Given the description of an element on the screen output the (x, y) to click on. 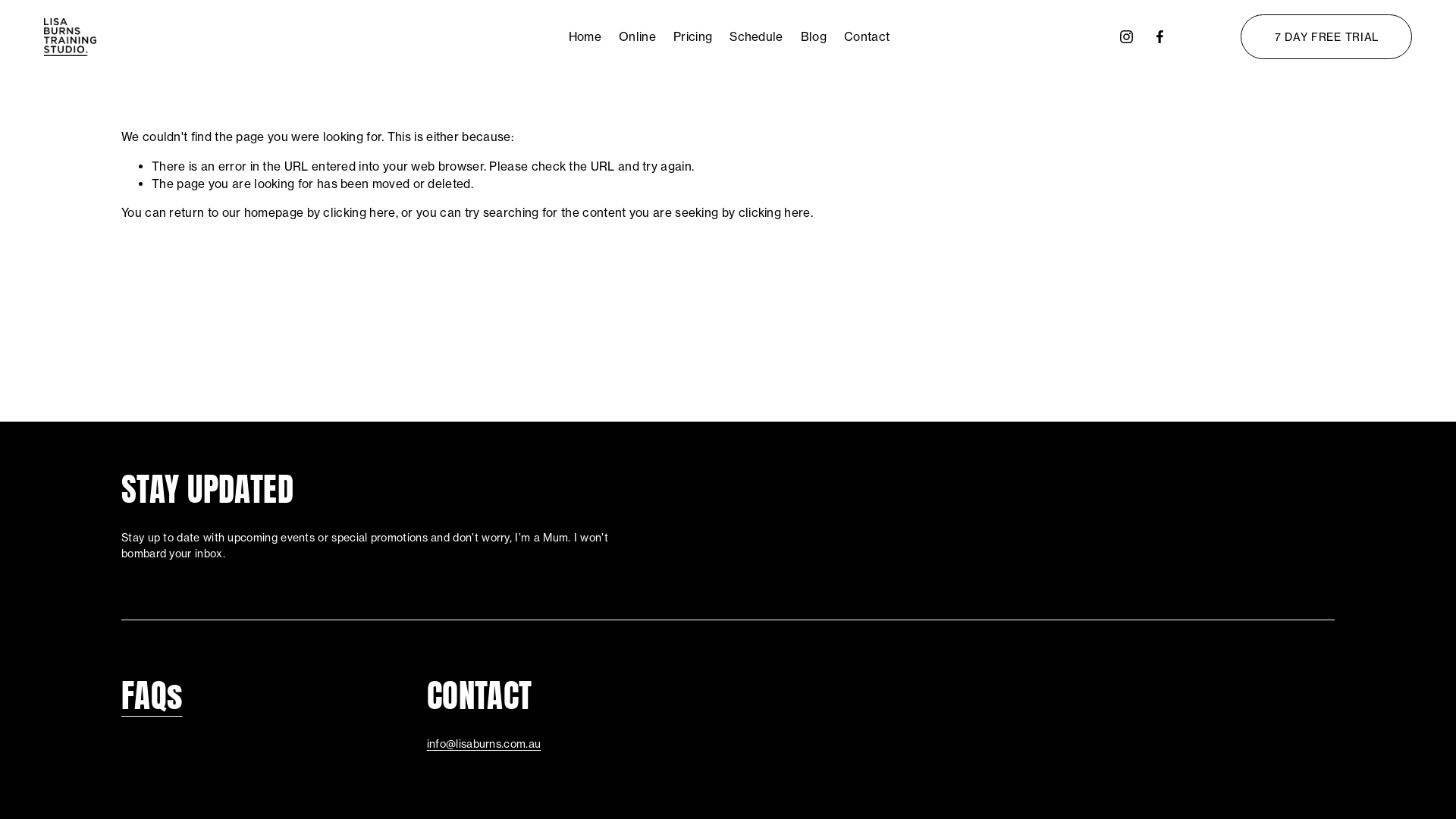
Pricing Element type: text (692, 37)
Schedule Element type: text (755, 37)
Blog Element type: text (813, 37)
7 DAY FREE TRIAL Element type: text (1326, 36)
Sign Up Element type: text (1289, 552)
Contact Element type: text (866, 37)
clicking here Element type: text (774, 212)
Home Element type: text (584, 37)
Online Element type: text (636, 37)
clicking here Element type: text (359, 212)
info@lisaburns.com.au Element type: text (483, 744)
FAQs Element type: text (151, 695)
